Given the description of an element on the screen output the (x, y) to click on. 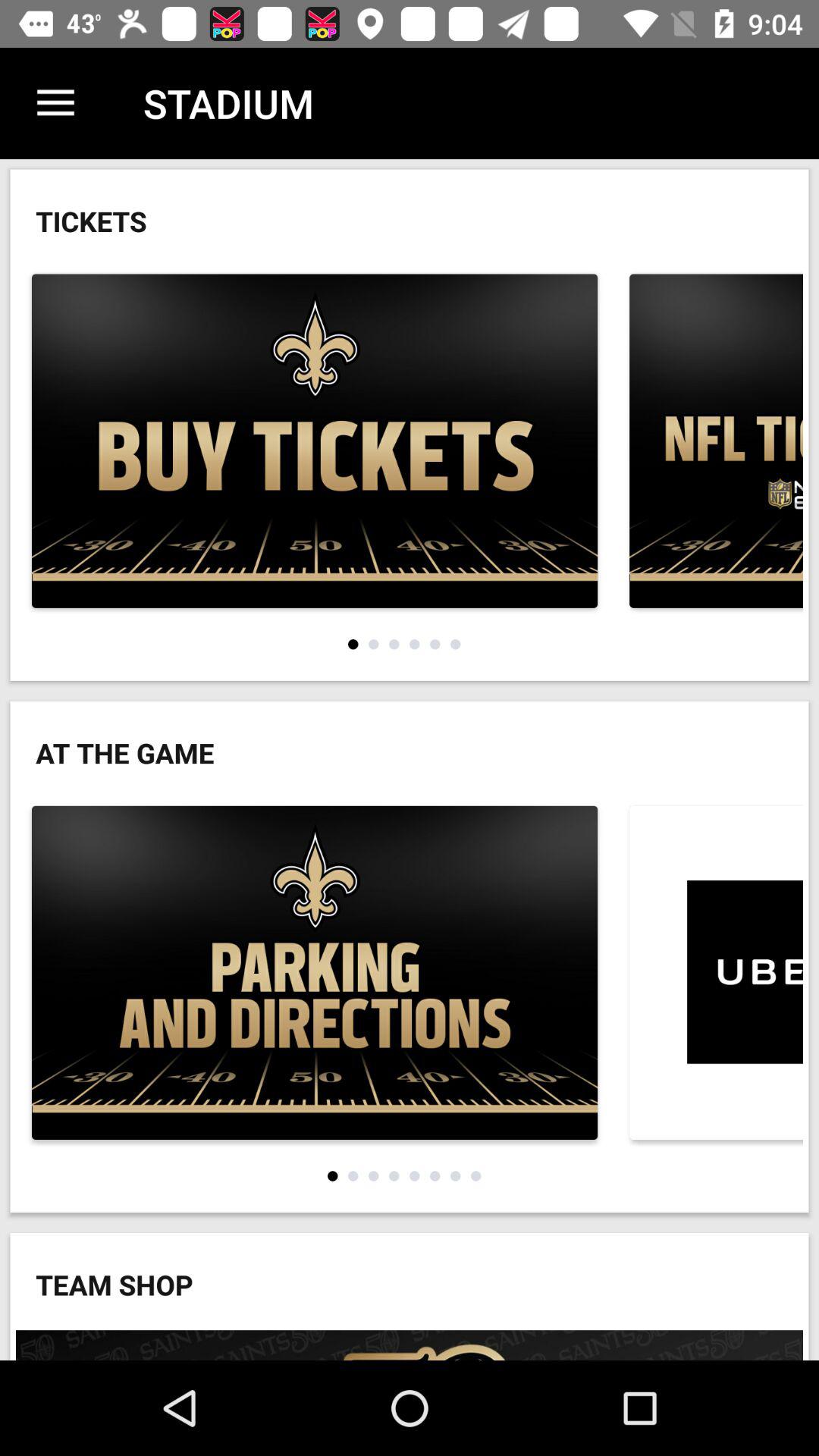
turn on icon next to stadium (55, 103)
